Given the description of an element on the screen output the (x, y) to click on. 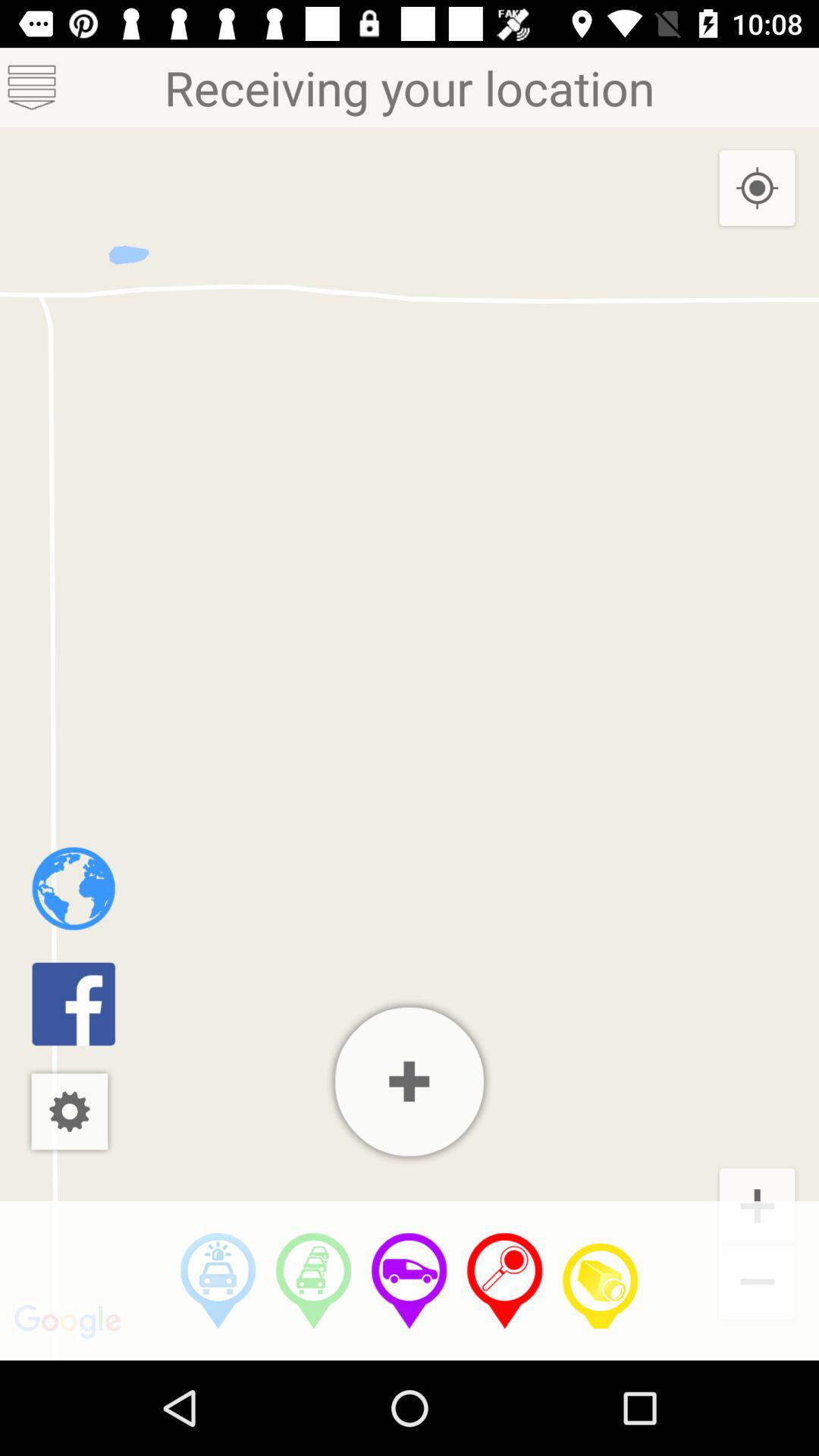
settings/options menu (69, 1111)
